Given the description of an element on the screen output the (x, y) to click on. 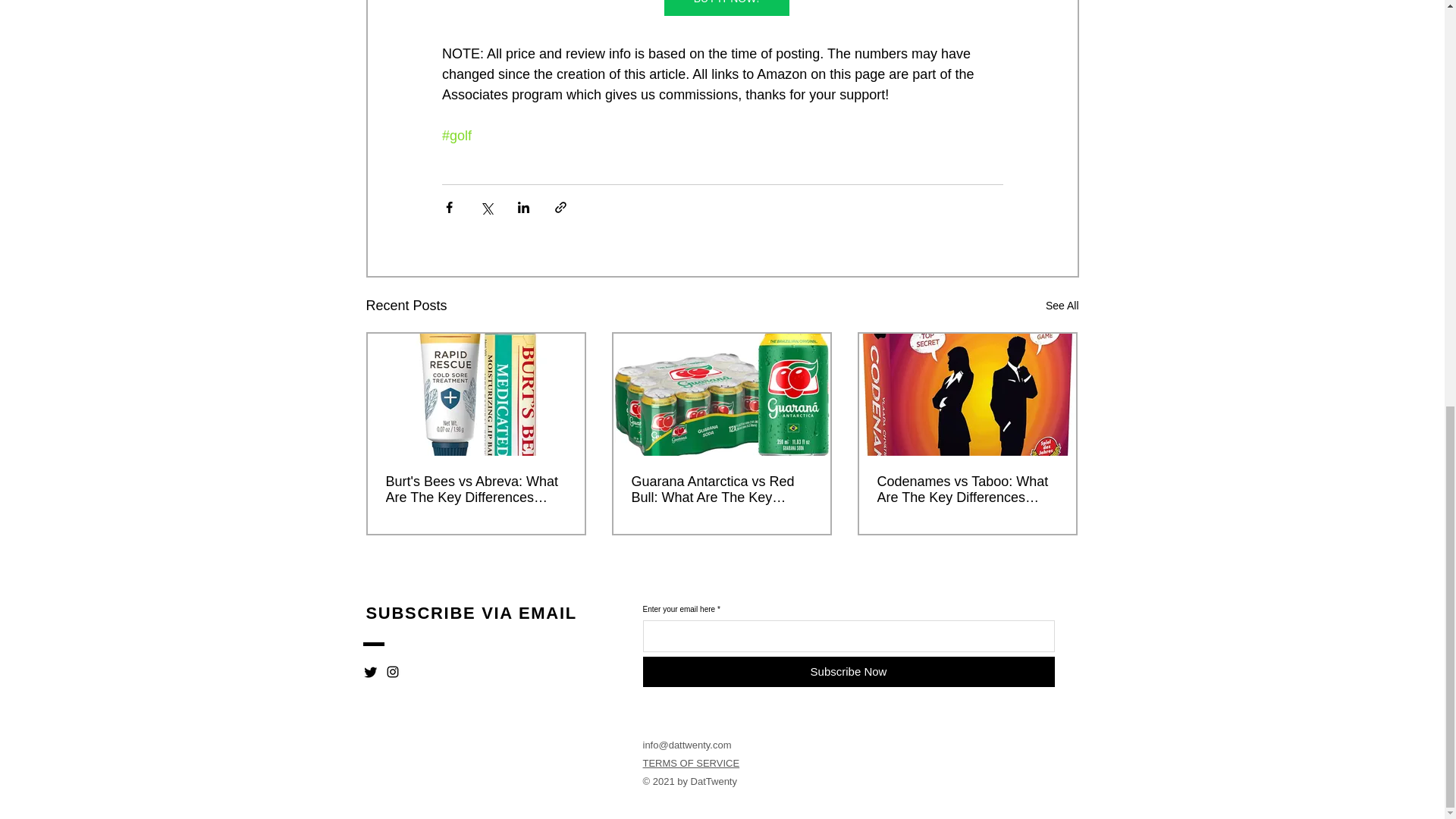
See All (1061, 305)
TERMS OF SERVICE (691, 763)
BUY IT NOW! (726, 7)
Subscribe Now (848, 671)
